Given the description of an element on the screen output the (x, y) to click on. 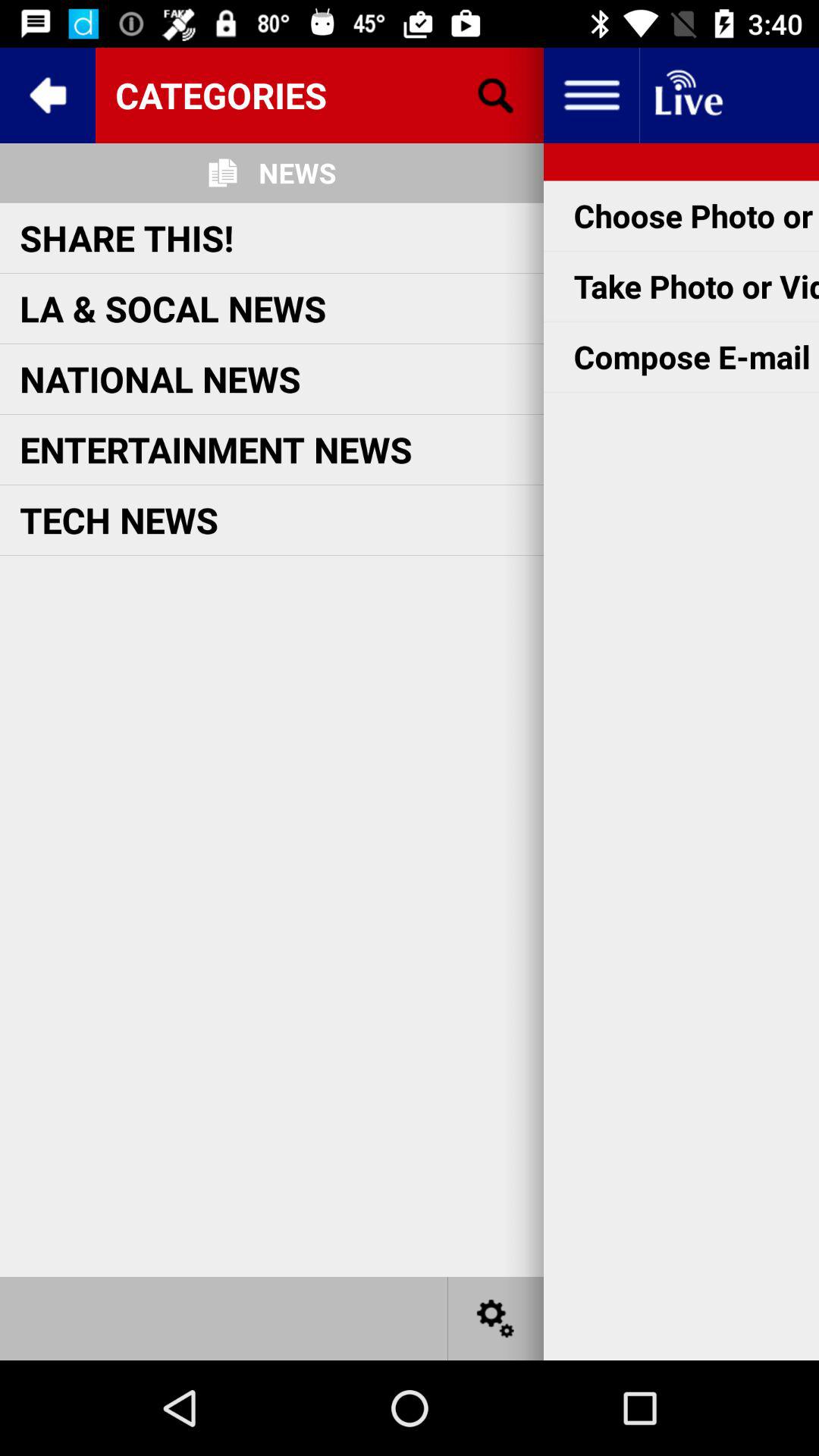
choose item on the left (118, 519)
